Given the description of an element on the screen output the (x, y) to click on. 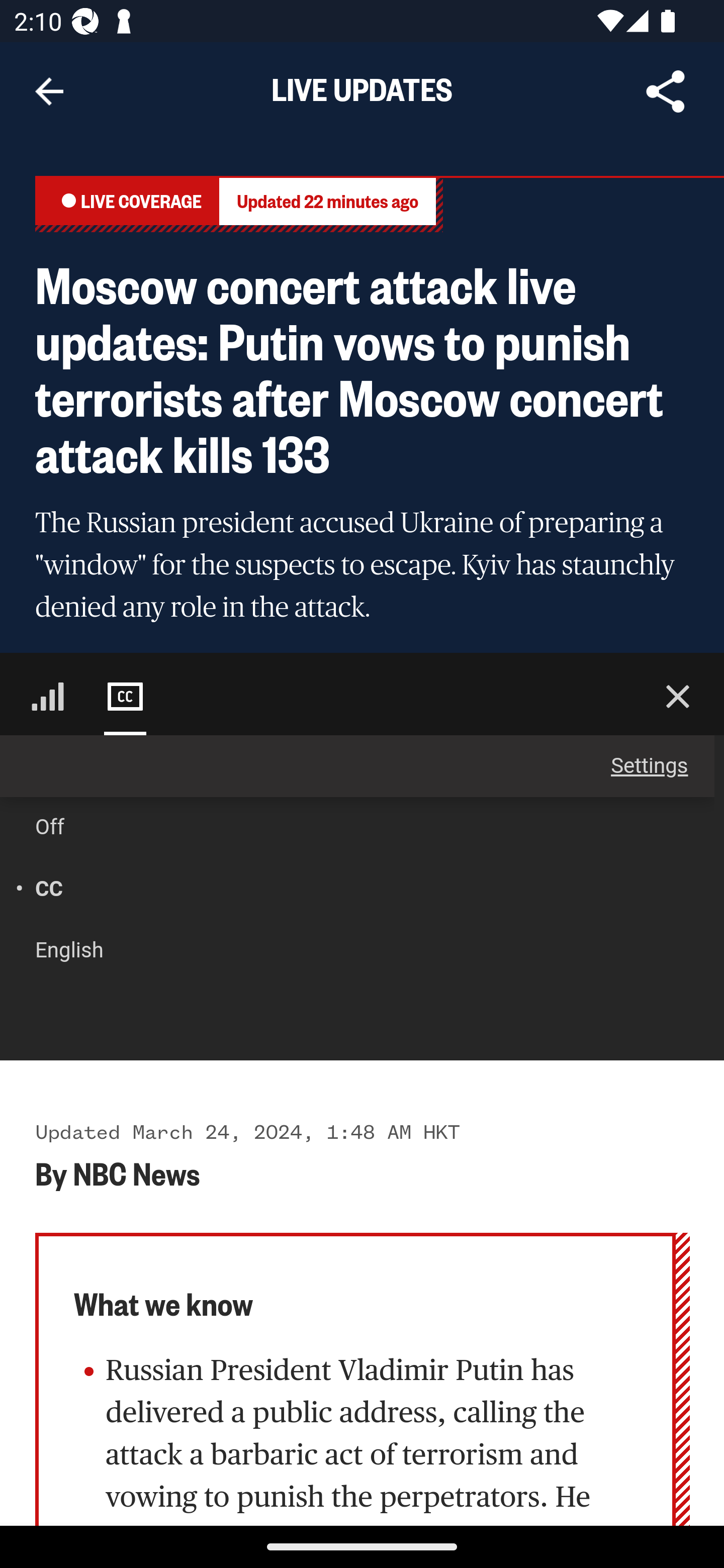
Navigate up (49, 91)
Share Article, button (665, 91)
Quality (47, 696)
Closed Captions (124, 696)
Close (677, 696)
Settings (358, 766)
Off (343, 826)
CC (343, 889)
English (343, 950)
